Given the description of an element on the screen output the (x, y) to click on. 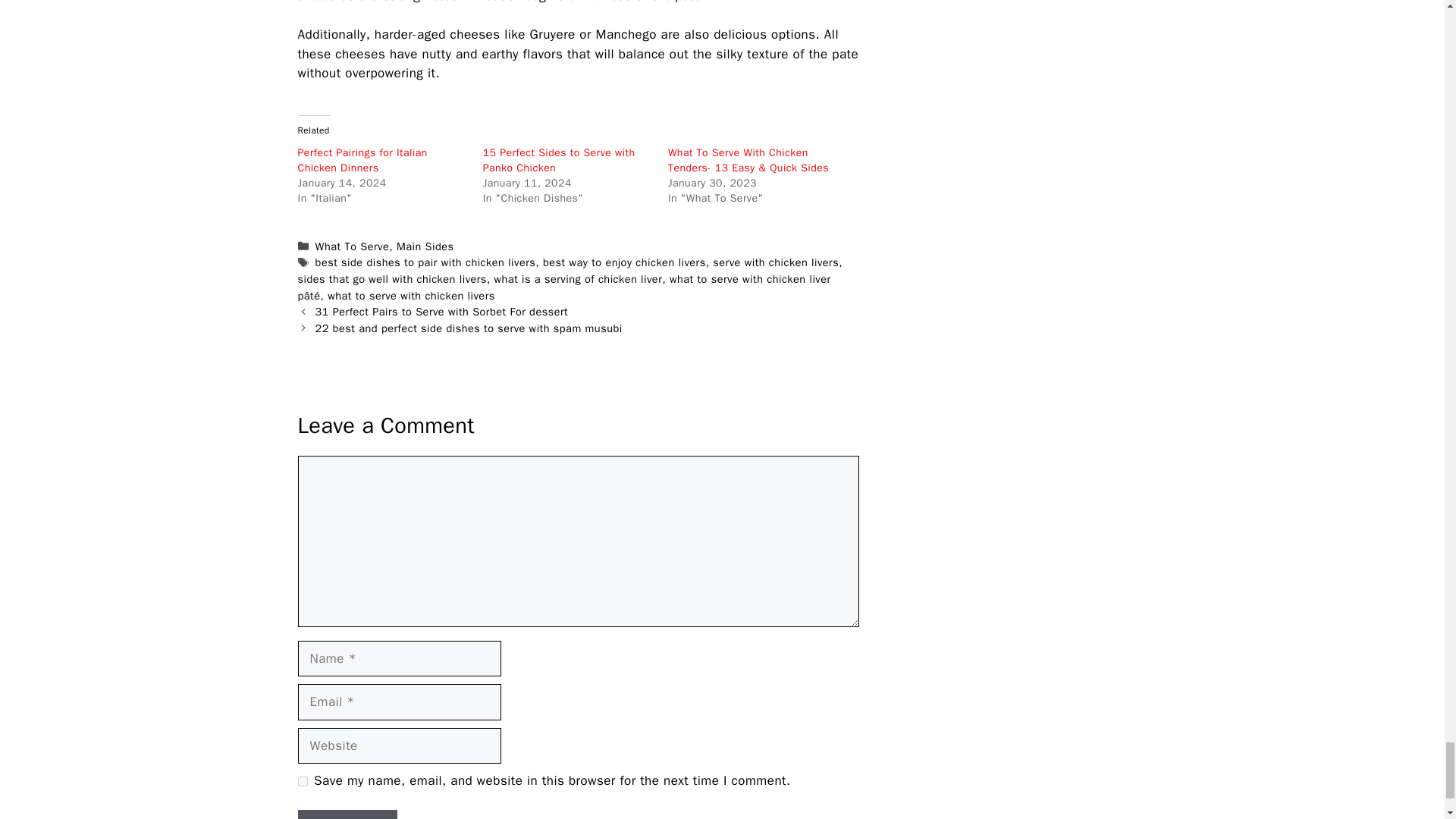
yes (302, 781)
Post Comment (347, 814)
